Given the description of an element on the screen output the (x, y) to click on. 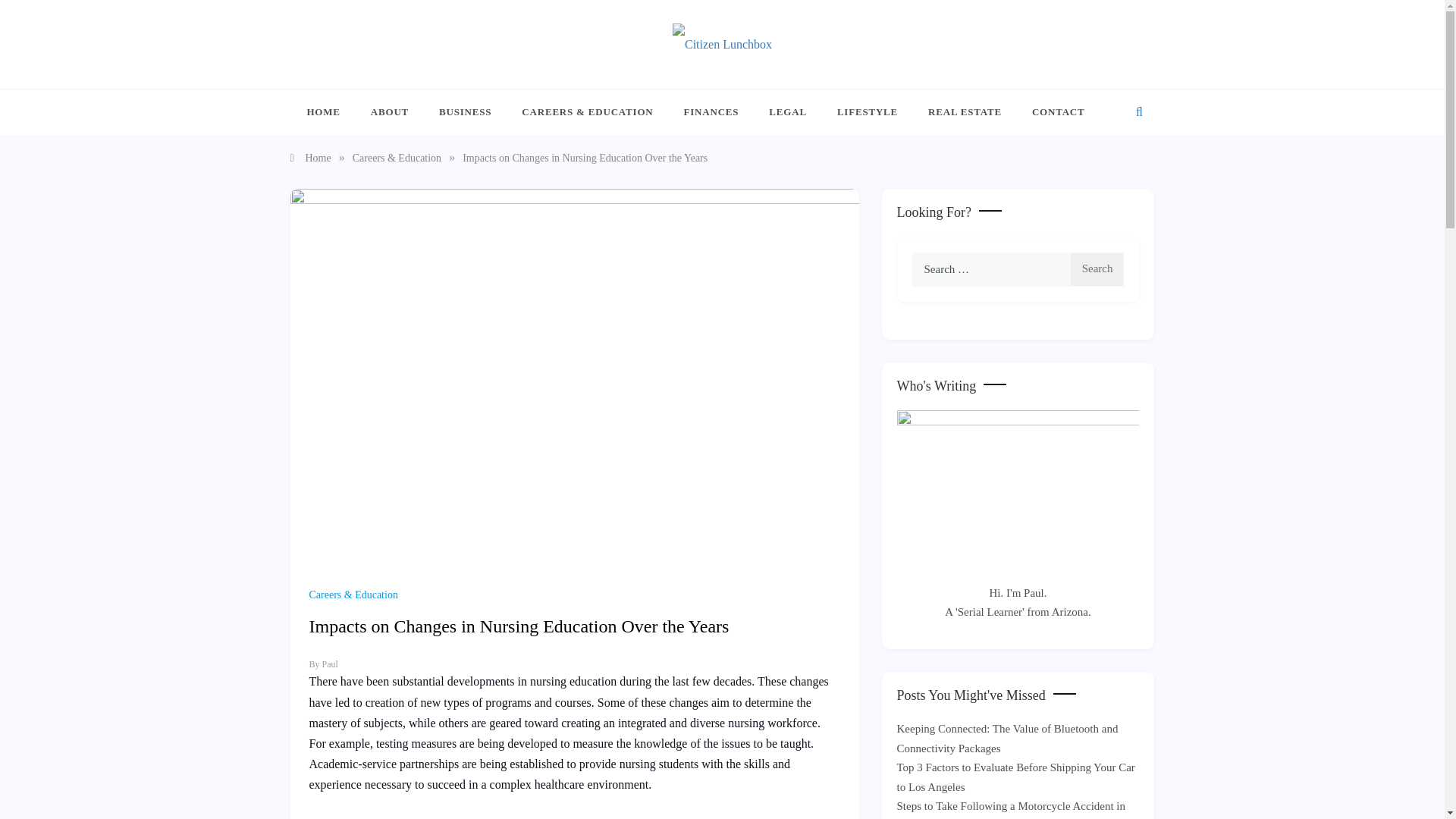
BUSINESS (464, 112)
CITIZEN LUNCHBOX (521, 79)
REAL ESTATE (964, 112)
LEGAL (788, 112)
LIFESTYLE (867, 112)
Search (1097, 269)
HOME (330, 112)
Search (1097, 269)
FINANCES (711, 112)
Home (309, 157)
Search (1097, 269)
ABOUT (389, 112)
